Given the description of an element on the screen output the (x, y) to click on. 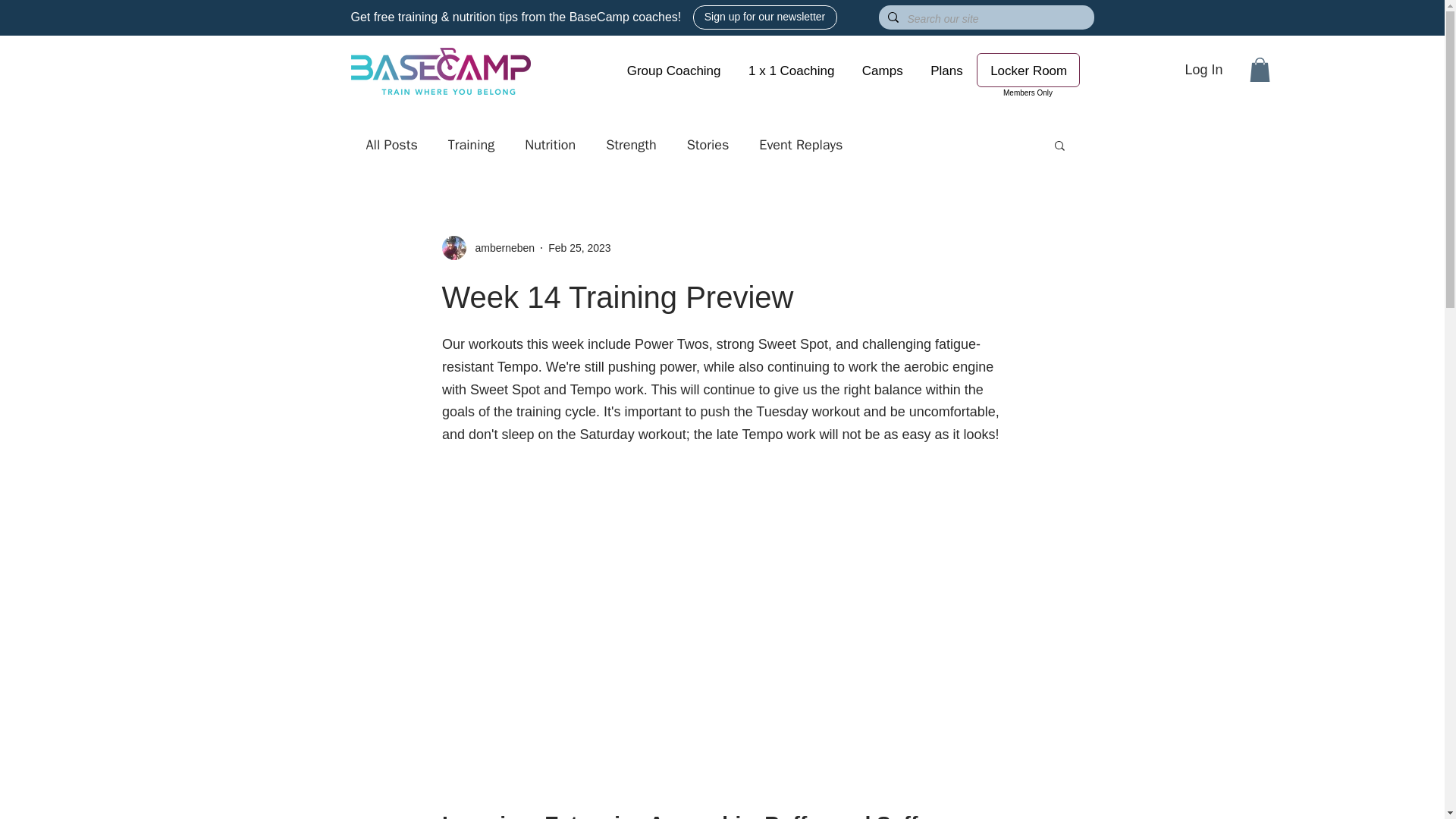
Log In (1203, 69)
Group Coaching (672, 71)
amberneben (499, 248)
Training (471, 144)
Nutrition (549, 144)
Feb 25, 2023 (579, 247)
All Posts (390, 144)
Strength (630, 144)
Sign up for our newsletter (765, 16)
Plans (947, 71)
